Given the description of an element on the screen output the (x, y) to click on. 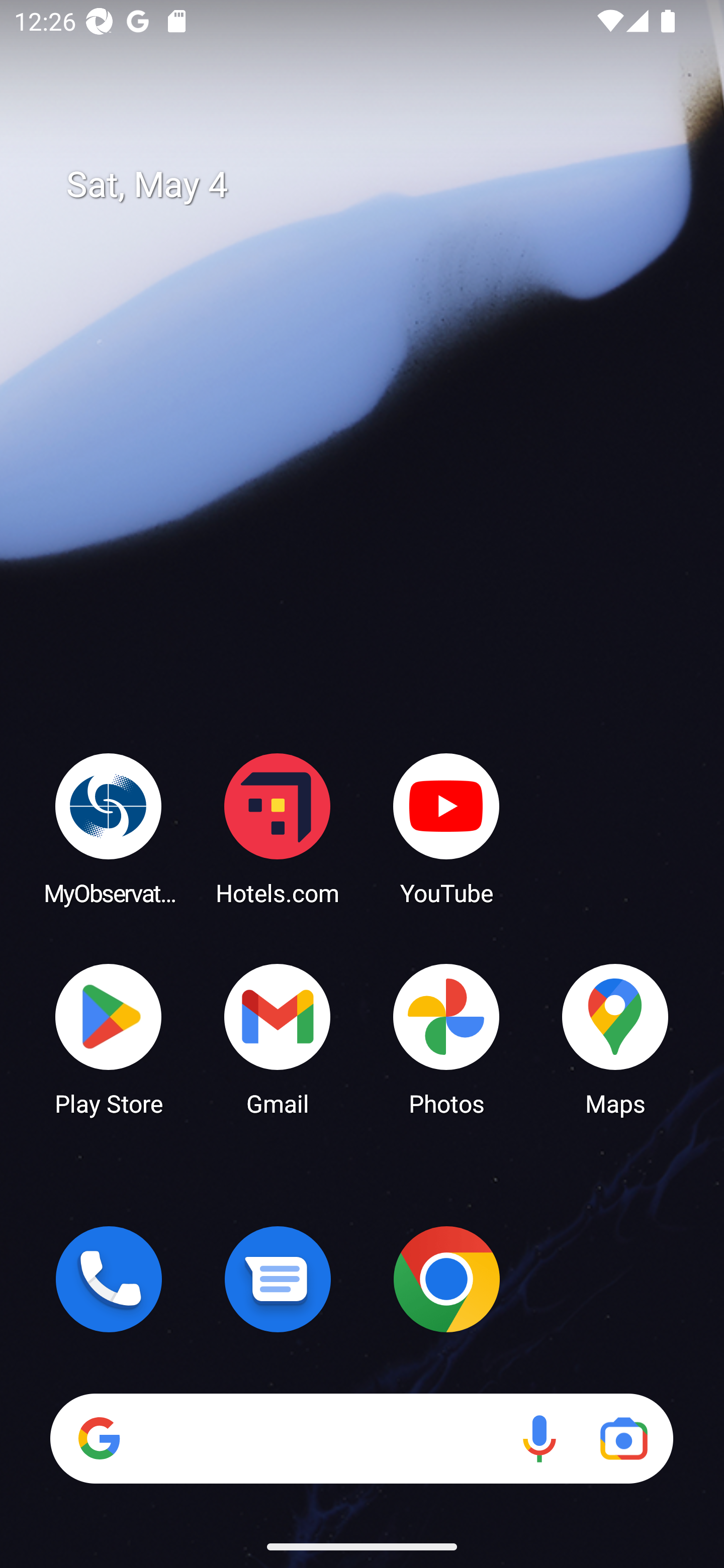
Sat, May 4 (375, 184)
MyObservatory (108, 828)
Hotels.com (277, 828)
YouTube (445, 828)
Play Store (108, 1038)
Gmail (277, 1038)
Photos (445, 1038)
Maps (615, 1038)
Phone (108, 1279)
Messages (277, 1279)
Chrome (446, 1279)
Search Voice search Google Lens (361, 1438)
Voice search (539, 1438)
Google Lens (623, 1438)
